Given the description of an element on the screen output the (x, y) to click on. 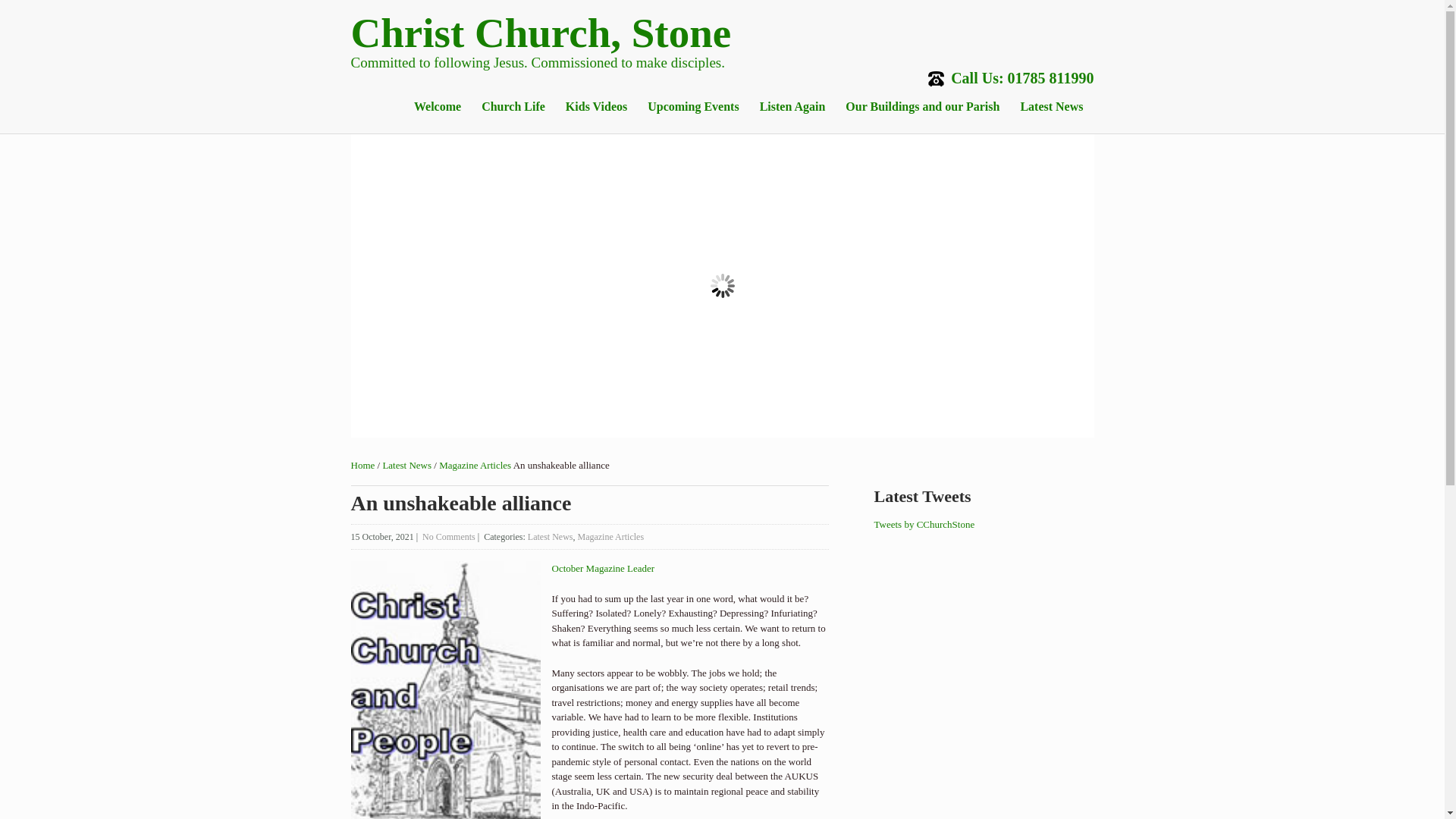
Welcome (437, 106)
Latest News (1051, 106)
Church Life (512, 106)
Home (362, 464)
Our Buildings and our Parish (922, 106)
Listen Again (792, 106)
View all posts in Magazine Articles (609, 536)
Magazine Articles (475, 464)
Upcoming Events (692, 106)
Latest News (405, 464)
Kids Videos (596, 106)
View all posts in Latest News (550, 536)
